Given the description of an element on the screen output the (x, y) to click on. 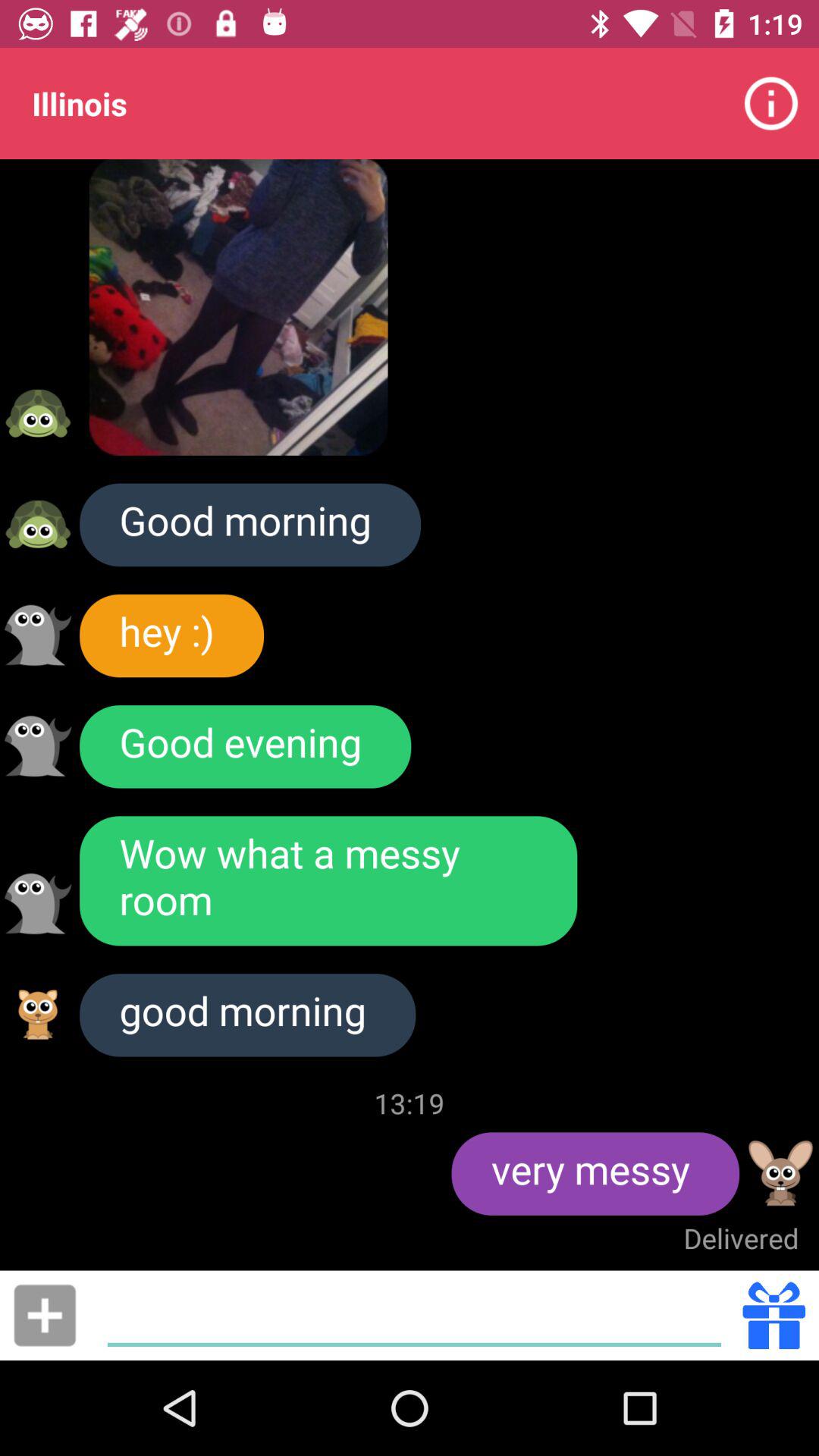
view profile (780, 1173)
